Given the description of an element on the screen output the (x, y) to click on. 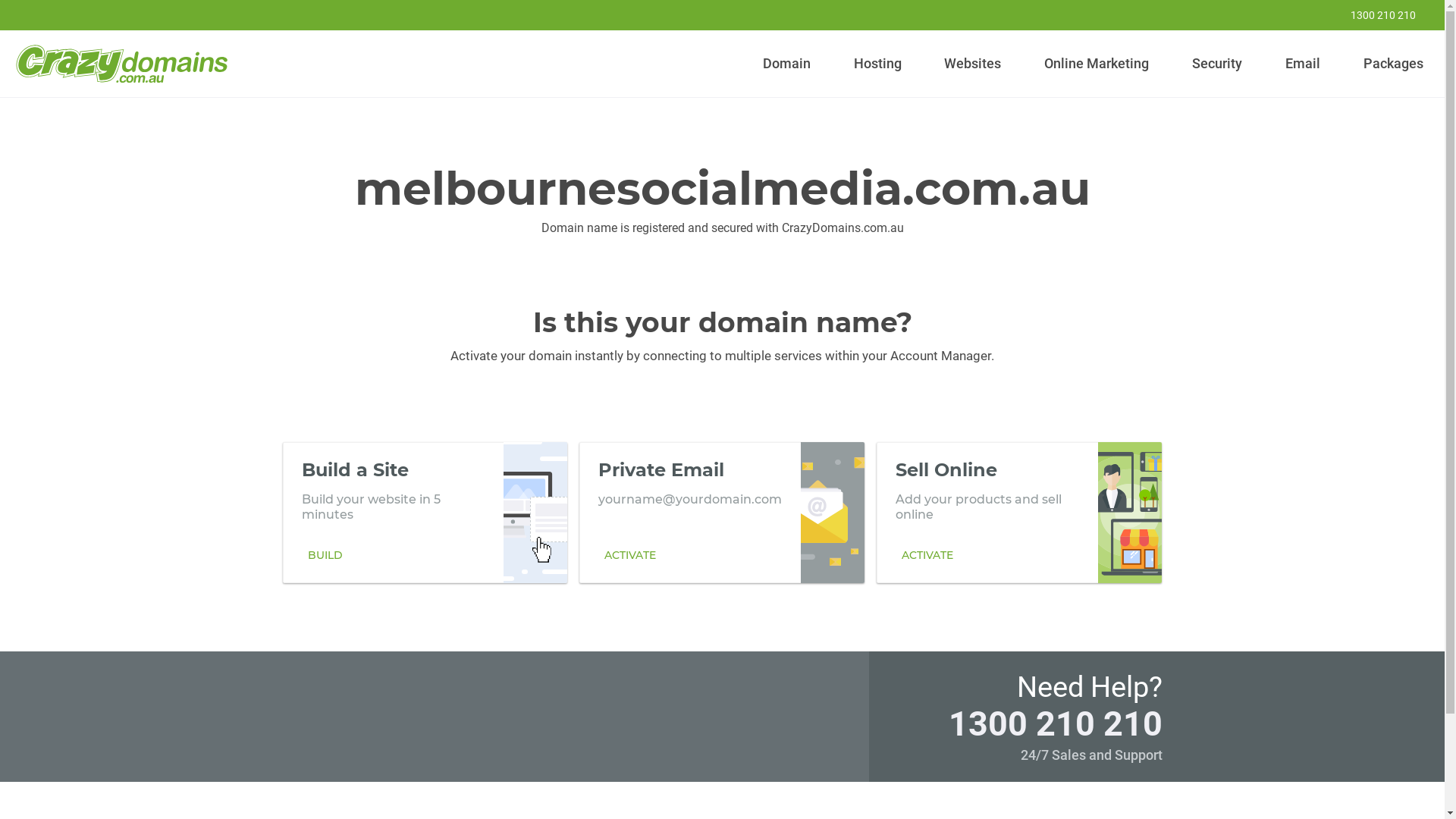
1300 210 210 Element type: text (1054, 723)
Security Element type: text (1217, 63)
Packages Element type: text (1392, 63)
Websites Element type: text (972, 63)
Private Email
yourname@yourdomain.com
ACTIVATE Element type: text (721, 511)
1300 210 210 Element type: text (1373, 15)
Online Marketing Element type: text (1096, 63)
Email Element type: text (1302, 63)
Sell Online
Add your products and sell online
ACTIVATE Element type: text (1018, 511)
Hosting Element type: text (877, 63)
Build a Site
Build your website in 5 minutes
BUILD Element type: text (424, 511)
Domain Element type: text (786, 63)
